Given the description of an element on the screen output the (x, y) to click on. 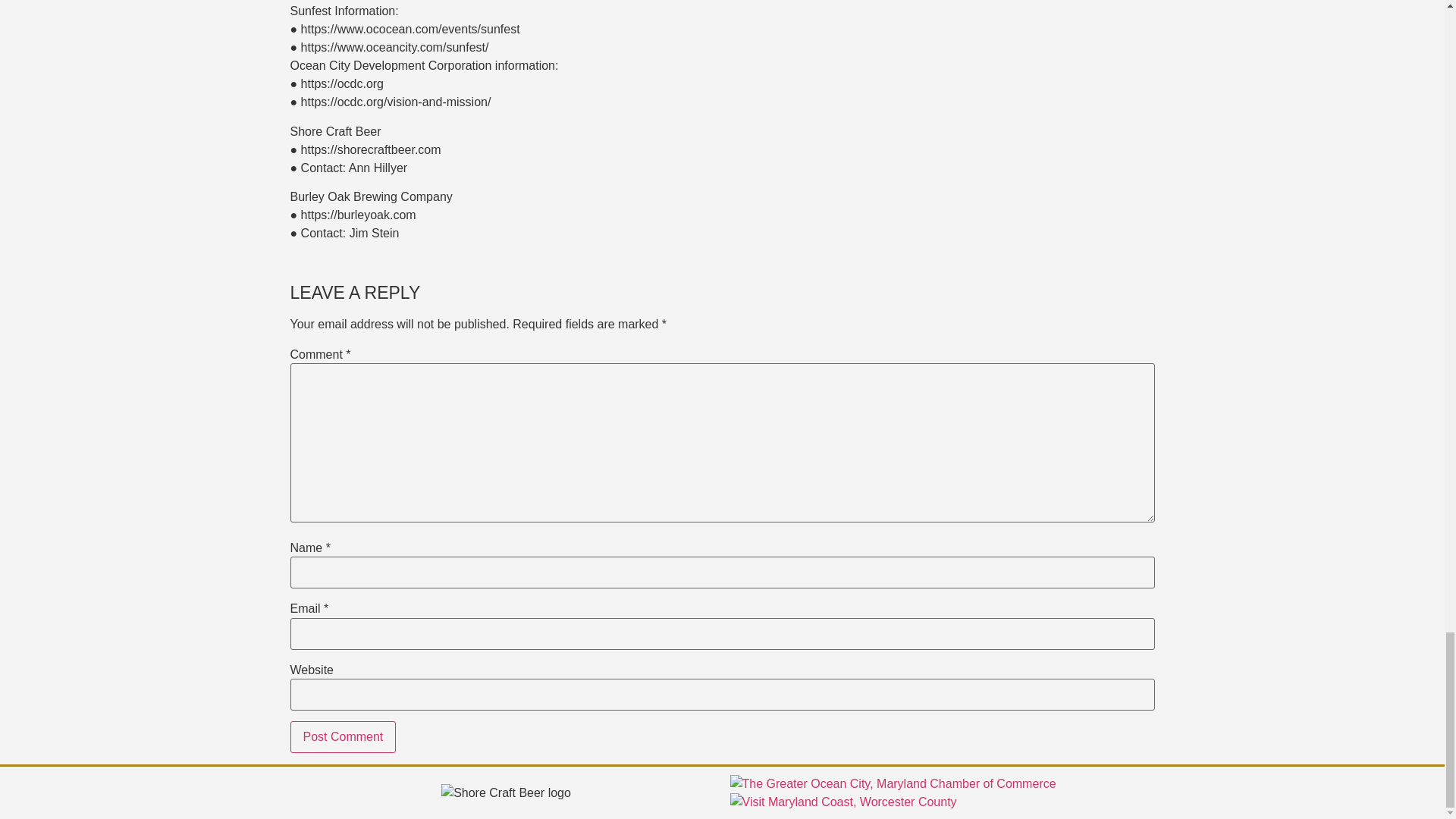
shore-craft-beer-logo-hor (505, 792)
Chamber-of-Commerce-300 (892, 783)
Post Comment (342, 736)
visit-MD-Coast-150 (842, 802)
